Given the description of an element on the screen output the (x, y) to click on. 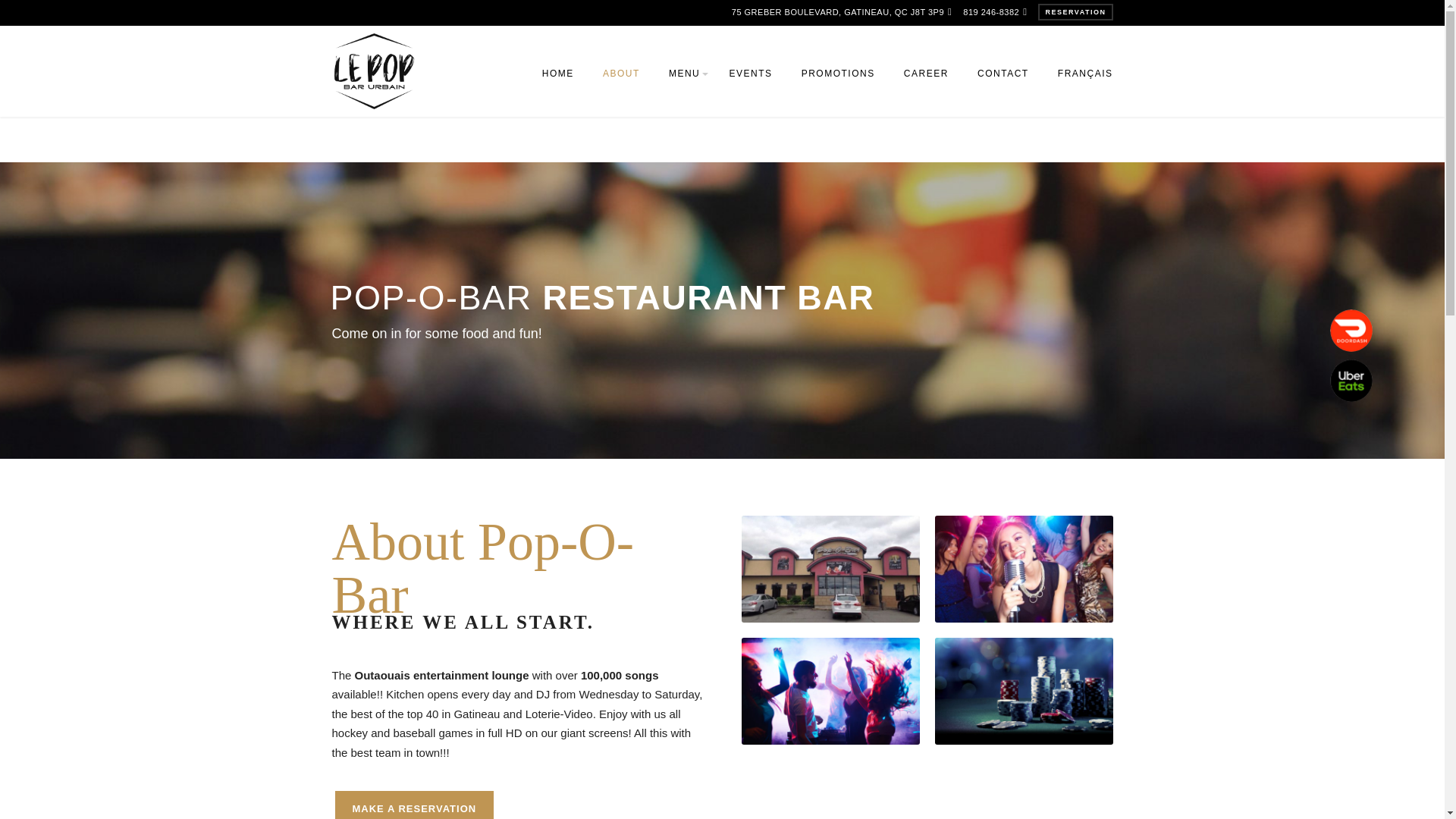
ABOUT (620, 82)
RESAURANT (739, 125)
MAKE A RESERVATION (414, 805)
MENU (684, 82)
CONTACT (1002, 82)
CAREER (925, 82)
PROMOTIONS (838, 82)
Pop-O-Bar (373, 69)
BEVERAGES (739, 159)
75 GREBER BOULEVARD, GATINEAU, QC J8T 3P9 (837, 11)
HOME (557, 82)
EVENTS (750, 82)
RESERVATION (1075, 12)
819 246-8382 (990, 11)
